Given the description of an element on the screen output the (x, y) to click on. 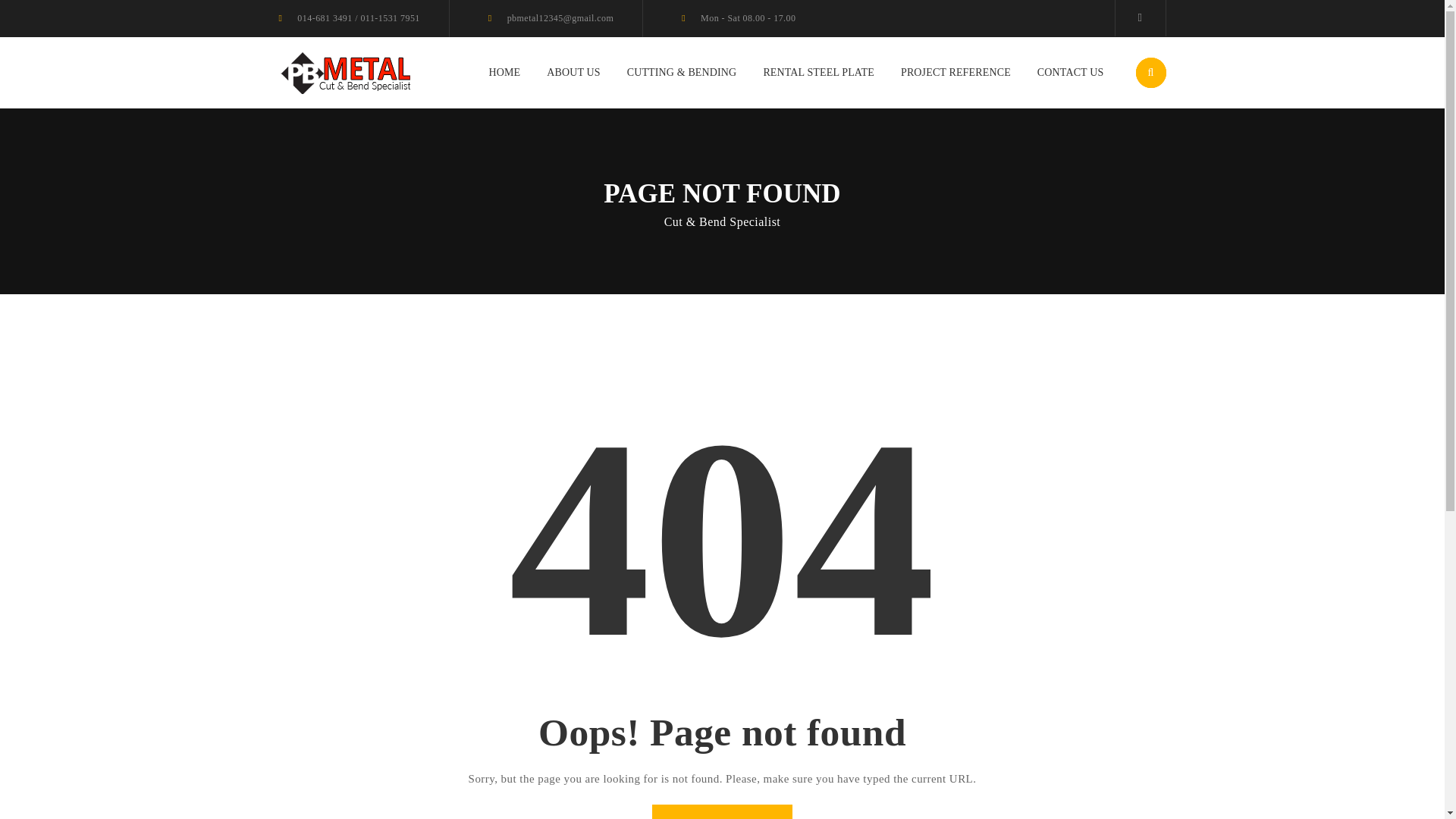
GO TO HOME PAGE (722, 811)
HOME (503, 72)
CONTACT US (1069, 72)
ABOUT US (573, 72)
RENTAL STEEL PLATE (818, 72)
PROJECT REFERENCE (955, 72)
